Given the description of an element on the screen output the (x, y) to click on. 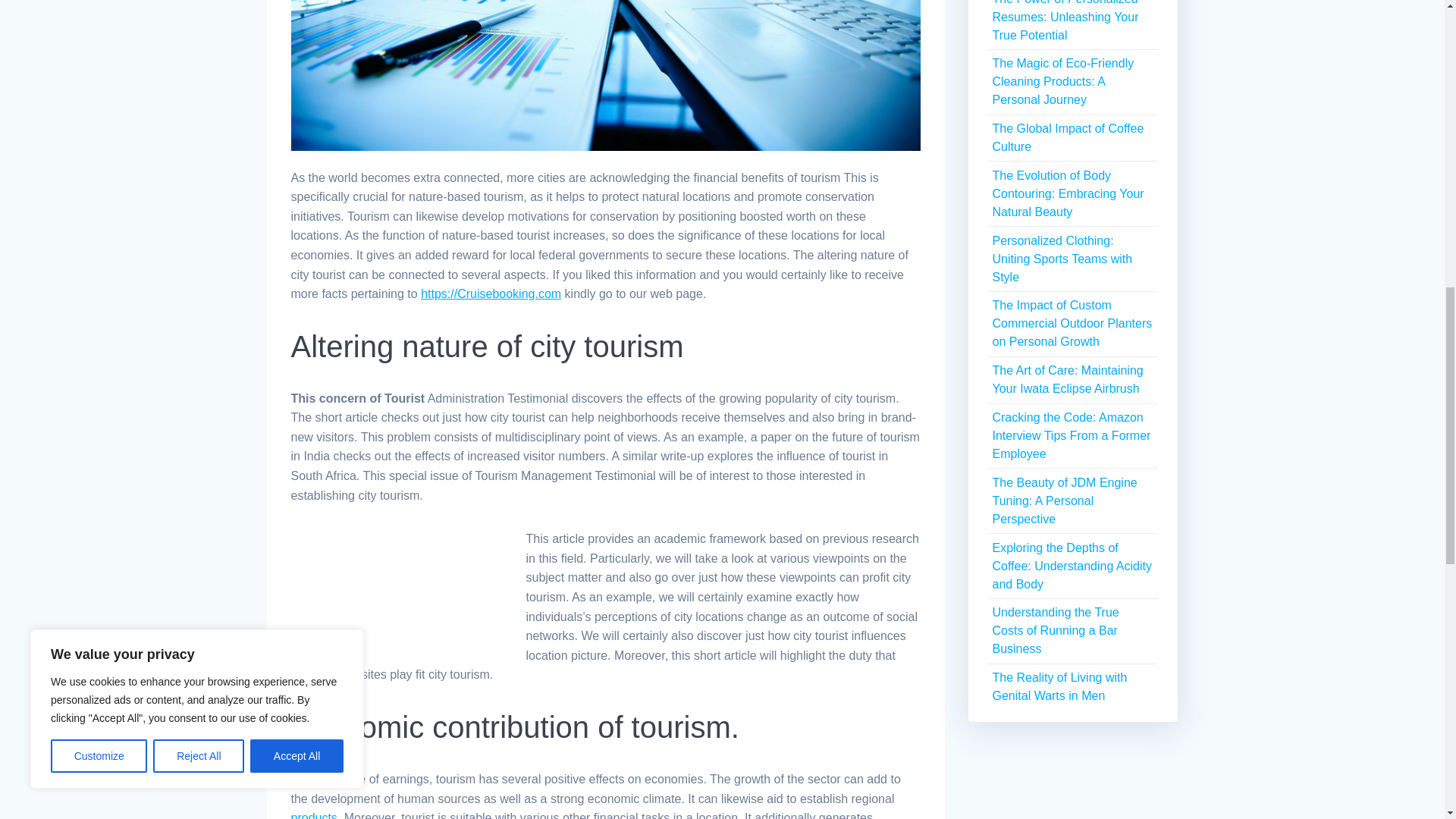
products (314, 815)
Personalized Clothing: Uniting Sports Teams with Style (1061, 258)
The Global Impact of Coffee Culture (1066, 137)
